Given the description of an element on the screen output the (x, y) to click on. 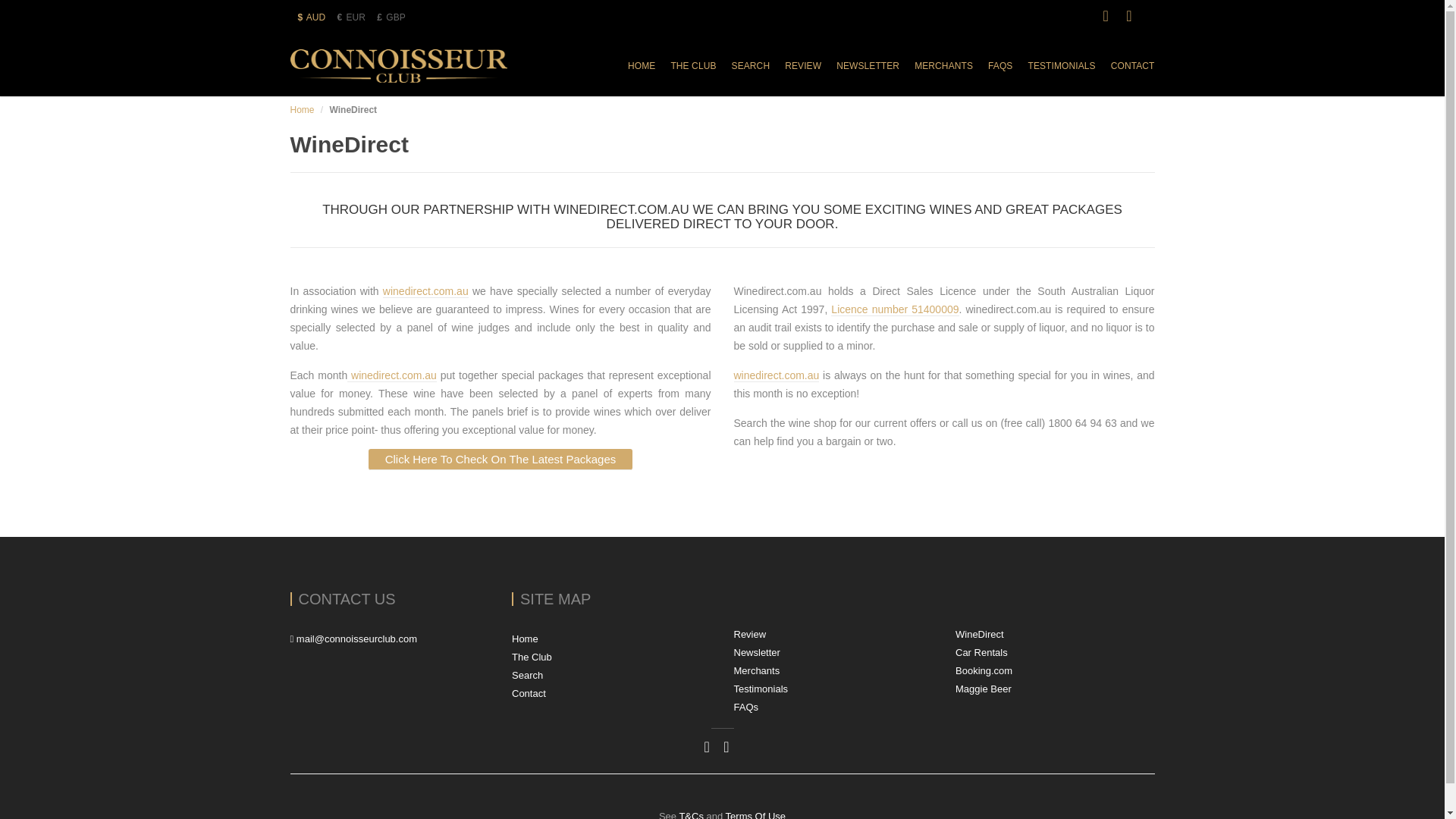
TESTIMONIALS (1061, 66)
NEWSLETTER (867, 66)
Home (301, 109)
MERCHANTS (943, 66)
winedirect.com.au (425, 291)
THE CLUB (692, 66)
